Given the description of an element on the screen output the (x, y) to click on. 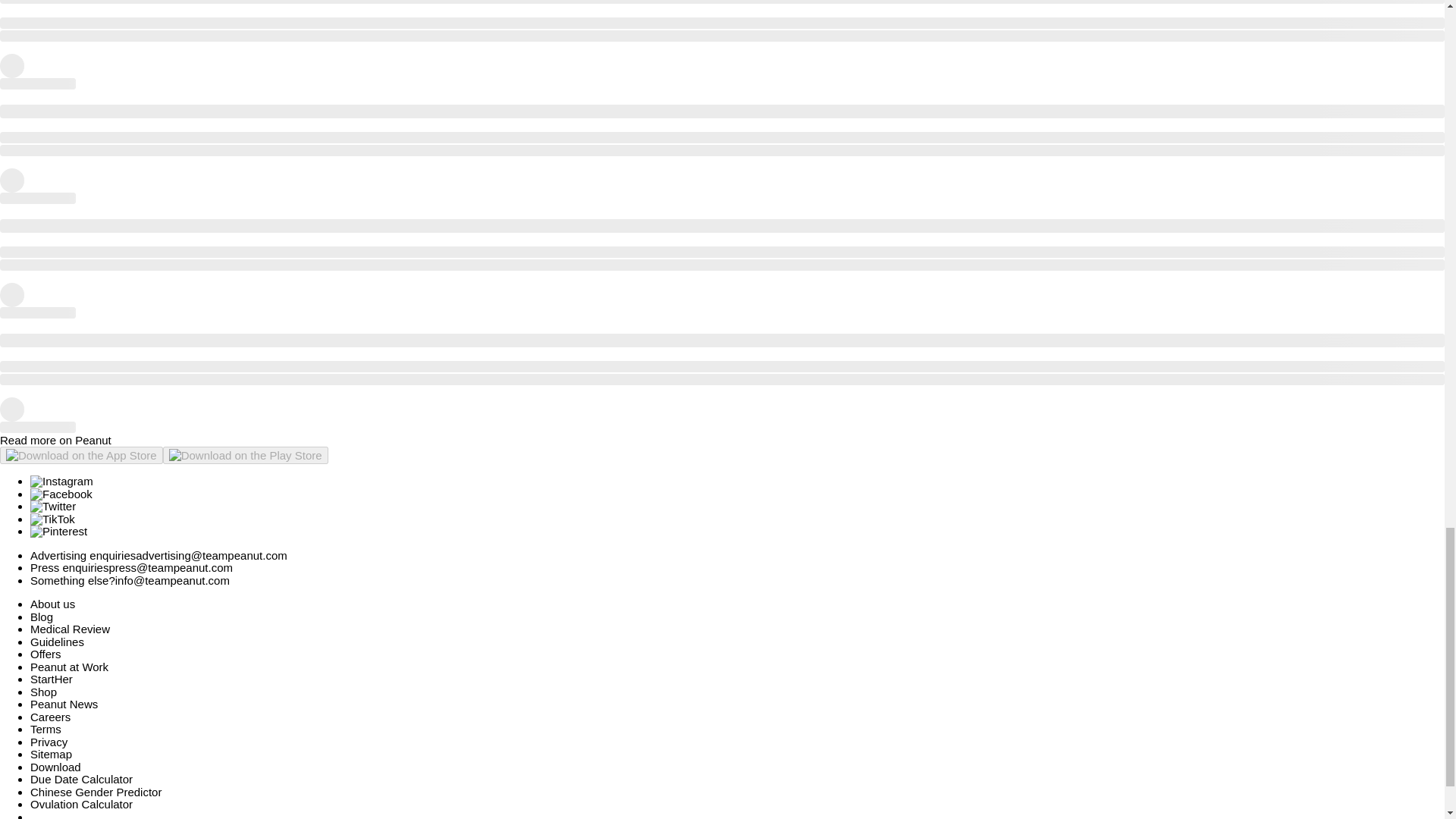
Read more on Peanut (56, 440)
